Given the description of an element on the screen output the (x, y) to click on. 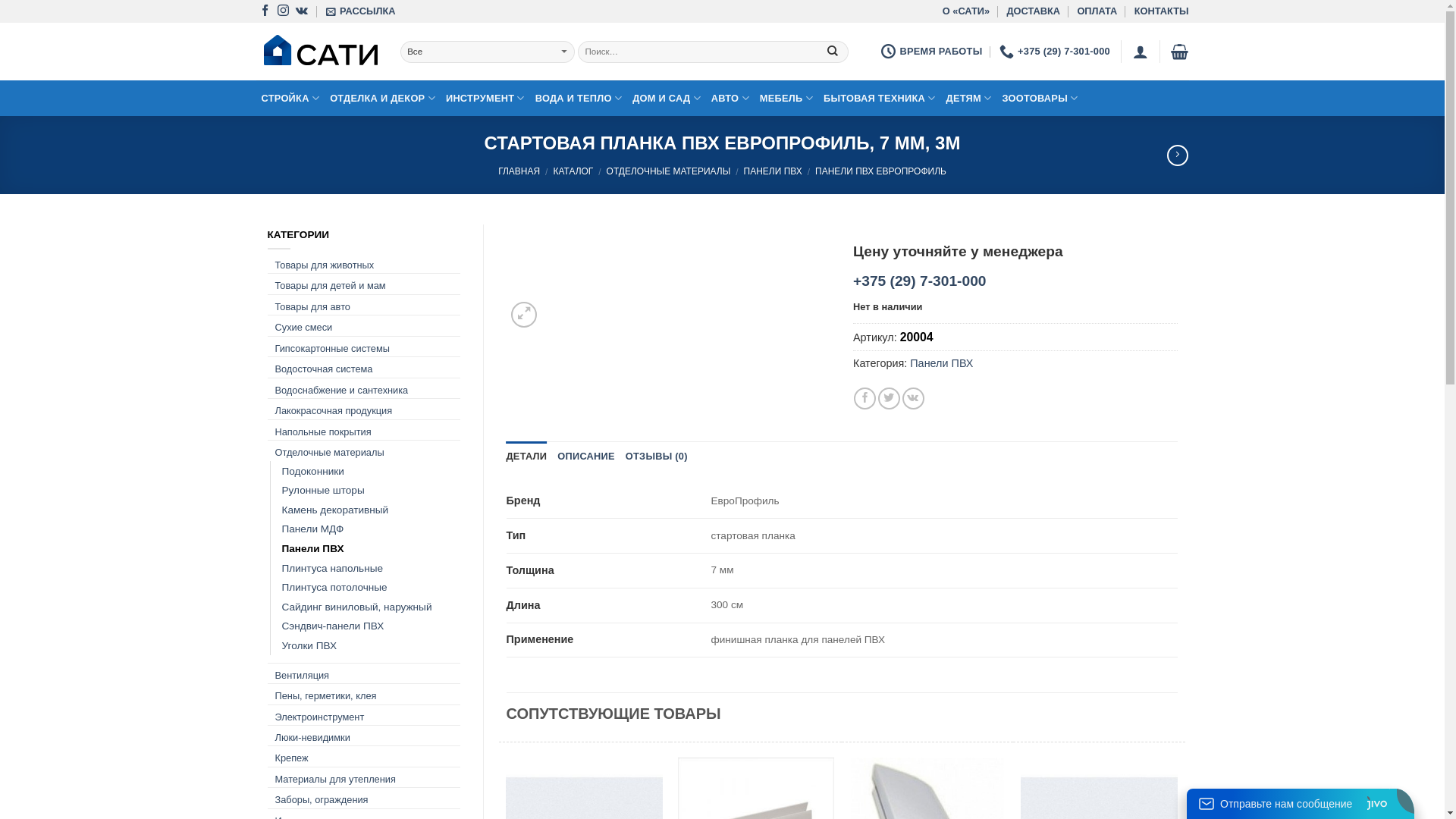
Follow on VKontakte Element type: hover (301, 10)
+375 (29) 7-301-000 Element type: text (919, 280)
+375 (29) 7-301-000 Element type: text (1054, 51)
Share on VKontakte Element type: hover (913, 398)
start-paenl1-600x330123 Element type: hover (668, 277)
